Given the description of an element on the screen output the (x, y) to click on. 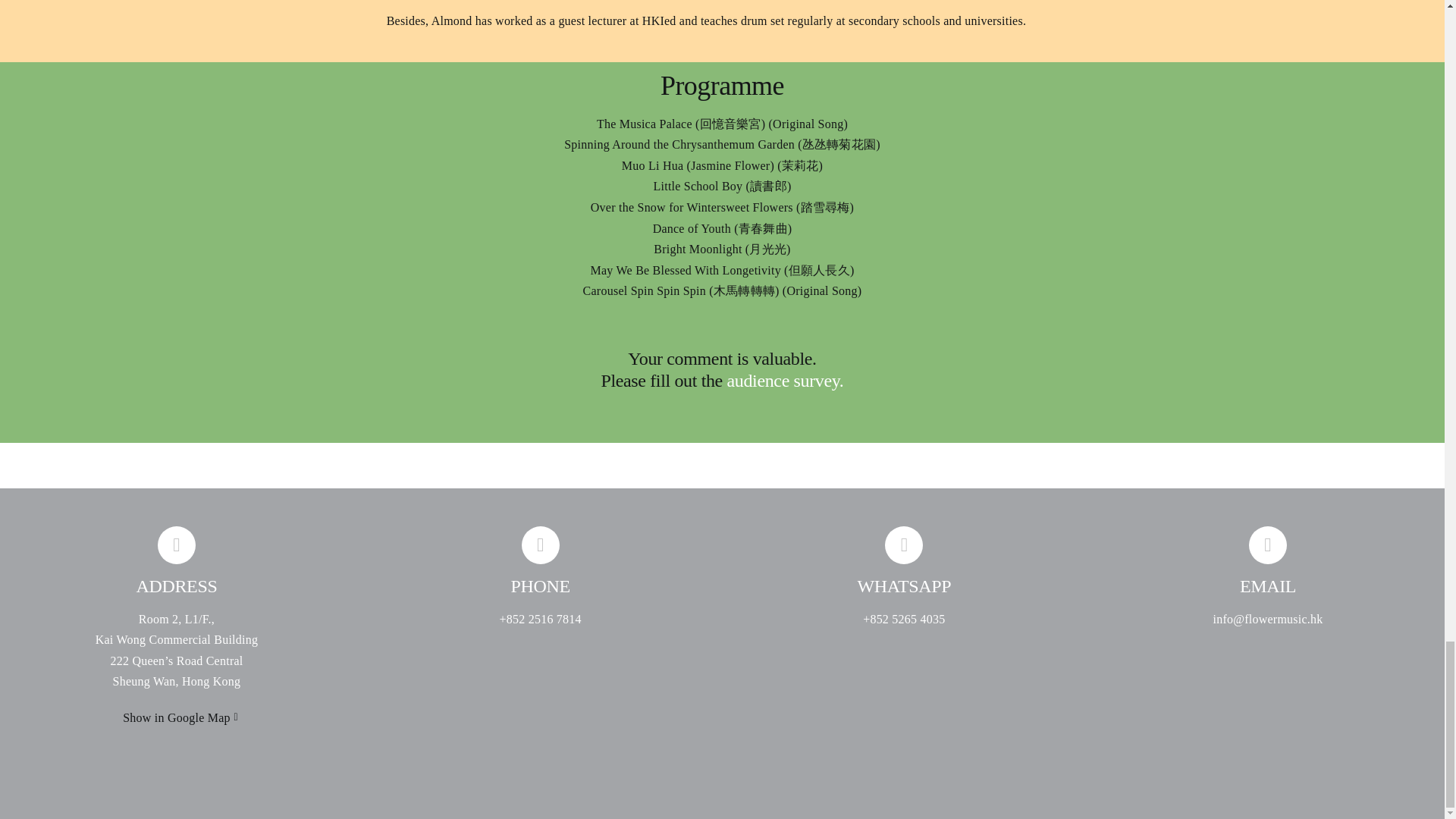
Show in Google Map (176, 717)
ADDRESS (176, 561)
audience survey. (785, 380)
